Given the description of an element on the screen output the (x, y) to click on. 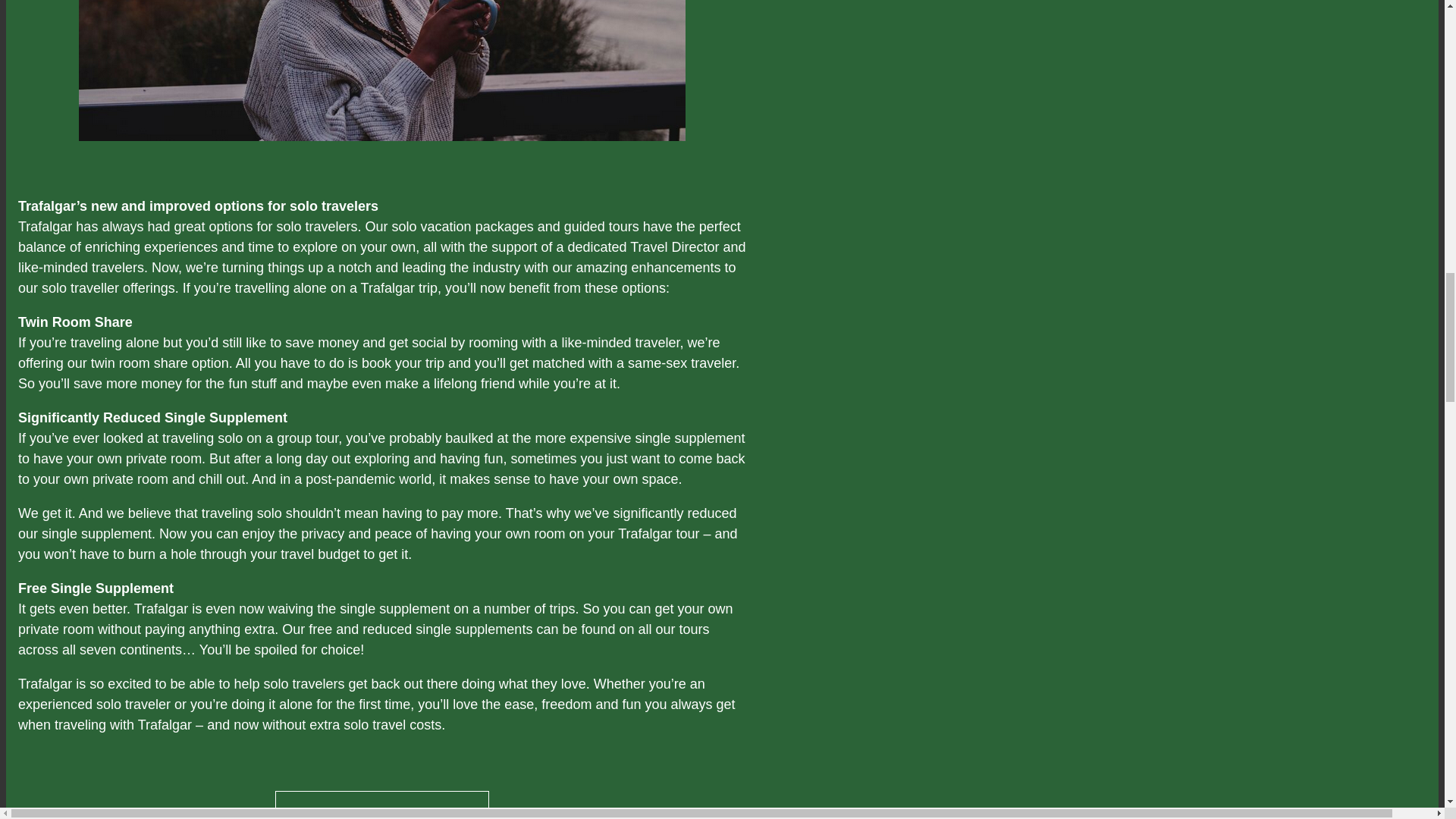
Start Your Trip Today (382, 805)
